Given the description of an element on the screen output the (x, y) to click on. 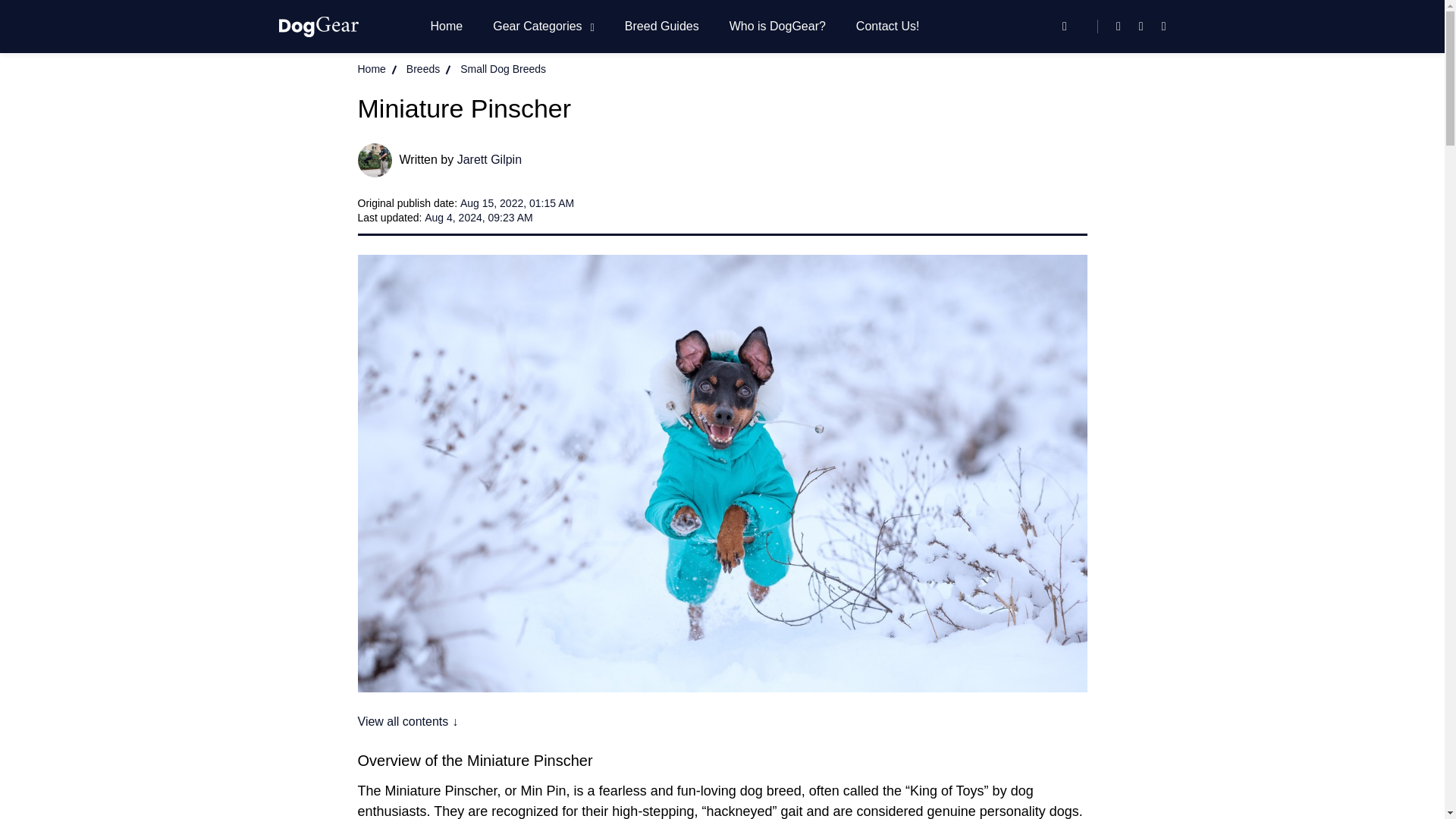
Small Dog Breeds (503, 68)
Contact Us! (888, 26)
Who is DogGear? (777, 26)
Home (446, 26)
Jarett Gilpin (489, 159)
Breed Guides (661, 26)
Breeds (422, 68)
Home (371, 68)
